Given the description of an element on the screen output the (x, y) to click on. 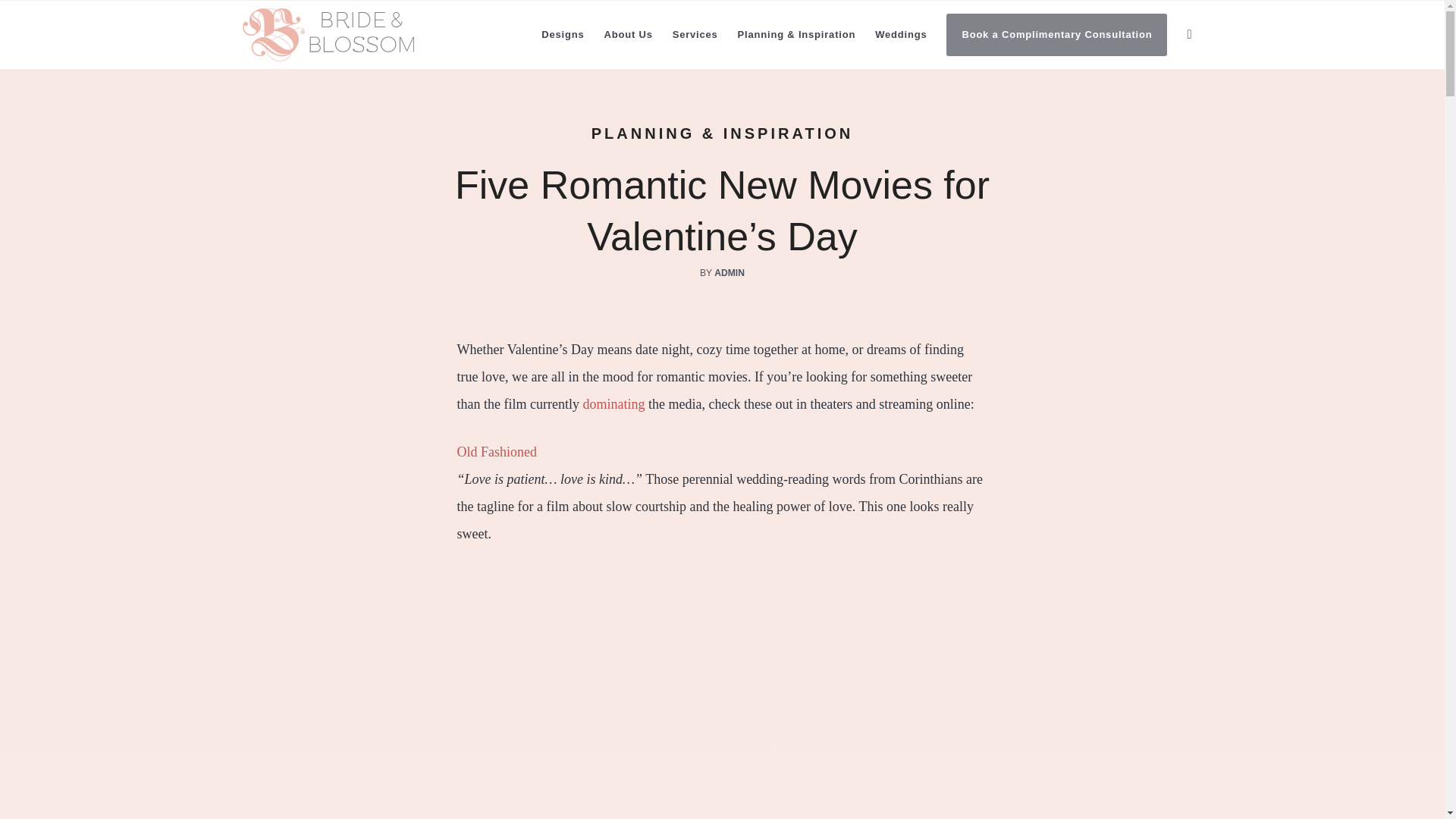
Designs (562, 34)
Weddings (900, 34)
Book a Complimentary Consultation (1056, 34)
Book a Complimentary Consultation (1056, 34)
Old Fashioned (497, 451)
Weddings (900, 34)
About Us (628, 34)
About Us (628, 34)
Posts by admin (729, 272)
Services (695, 34)
dominating (613, 403)
Services (695, 34)
Designs (562, 34)
ADMIN (729, 272)
